Given the description of an element on the screen output the (x, y) to click on. 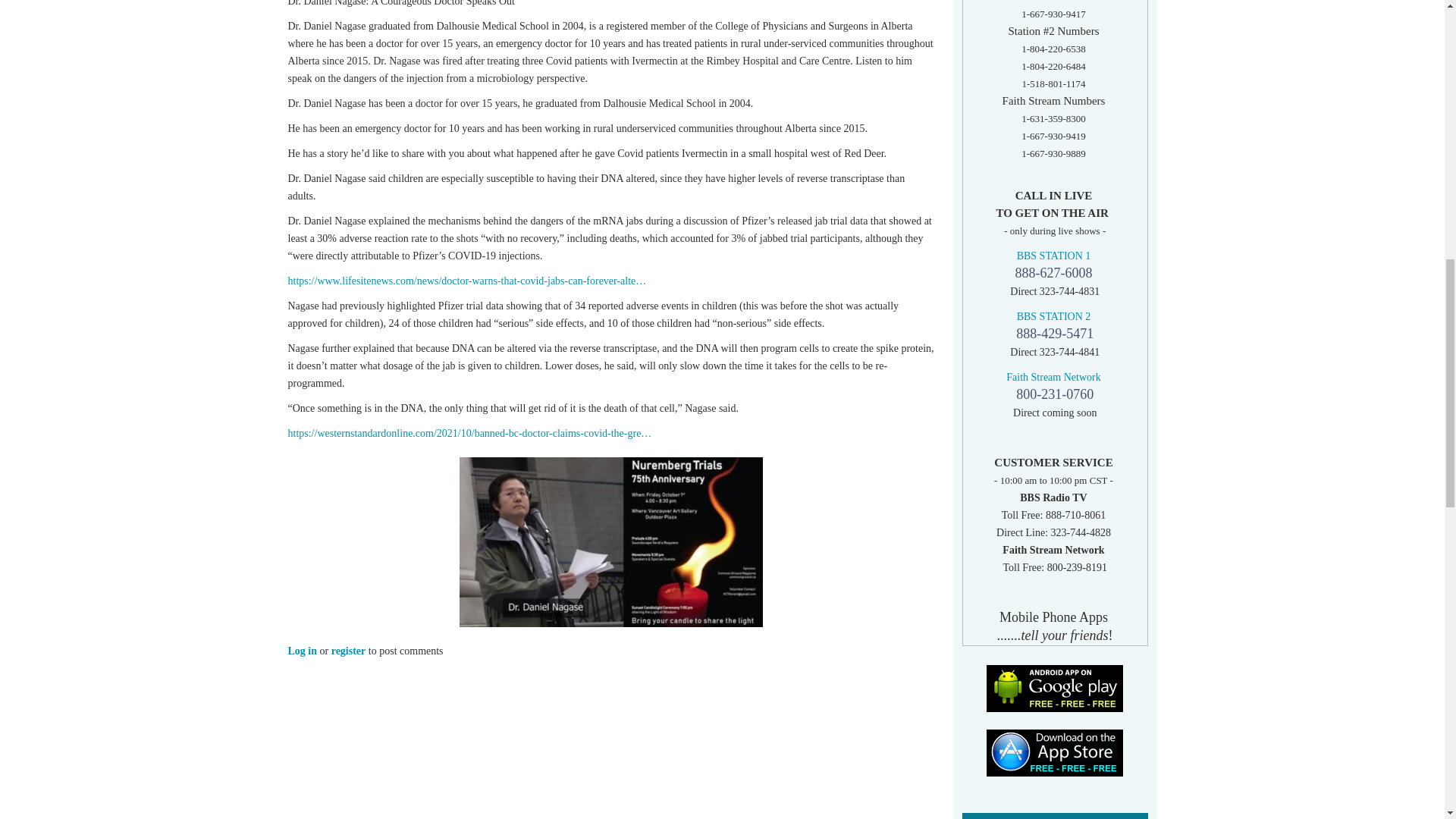
Dr. Daniel Nagase - Nuremberg Trials 75th Anniversary (611, 542)
